Given the description of an element on the screen output the (x, y) to click on. 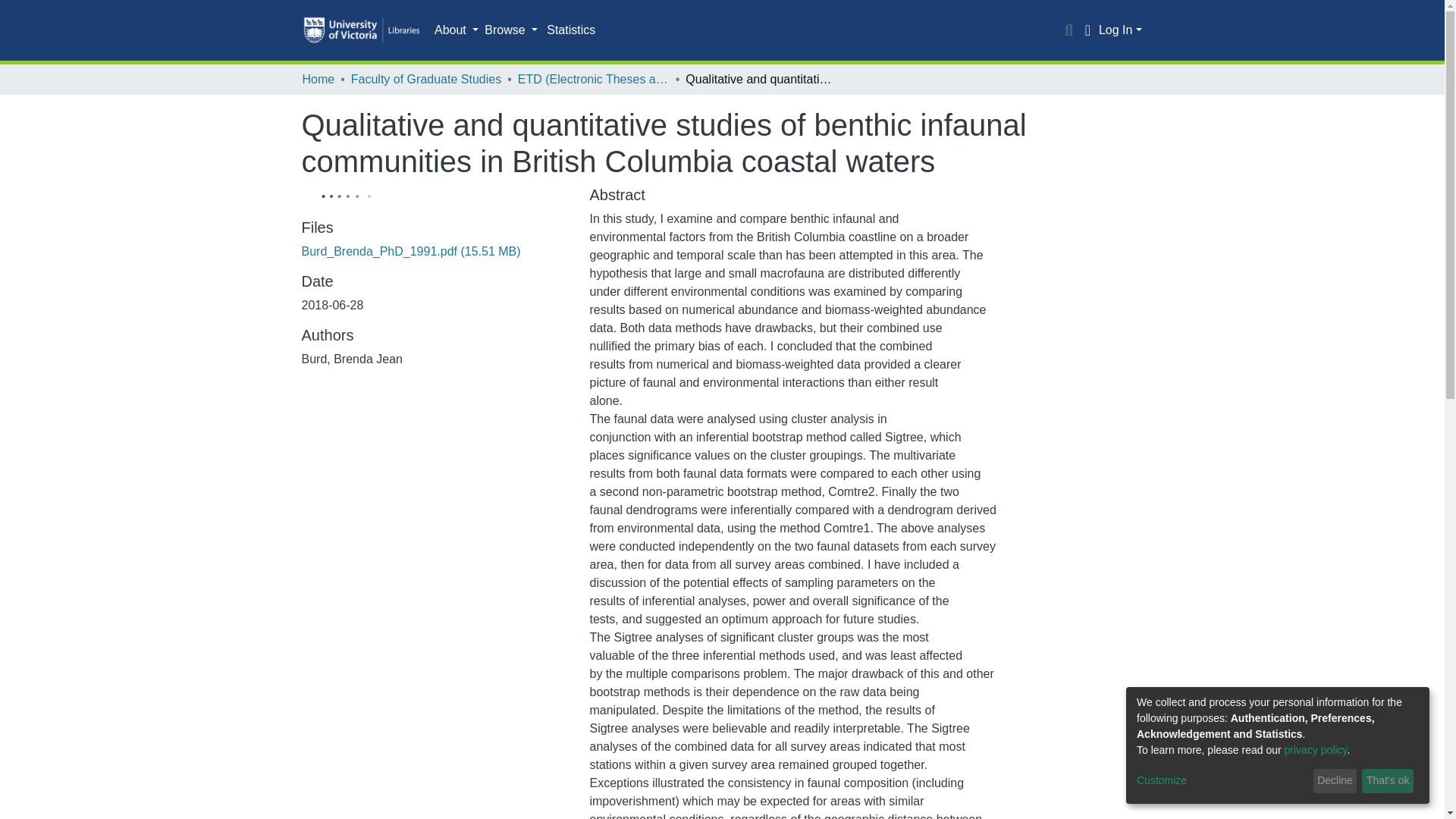
Browse (510, 30)
Statistics (570, 30)
Faculty of Graduate Studies (425, 79)
Log In (1119, 29)
About (455, 30)
Home (317, 79)
Statistics (570, 30)
Search (1068, 30)
Language switch (1087, 30)
